Given the description of an element on the screen output the (x, y) to click on. 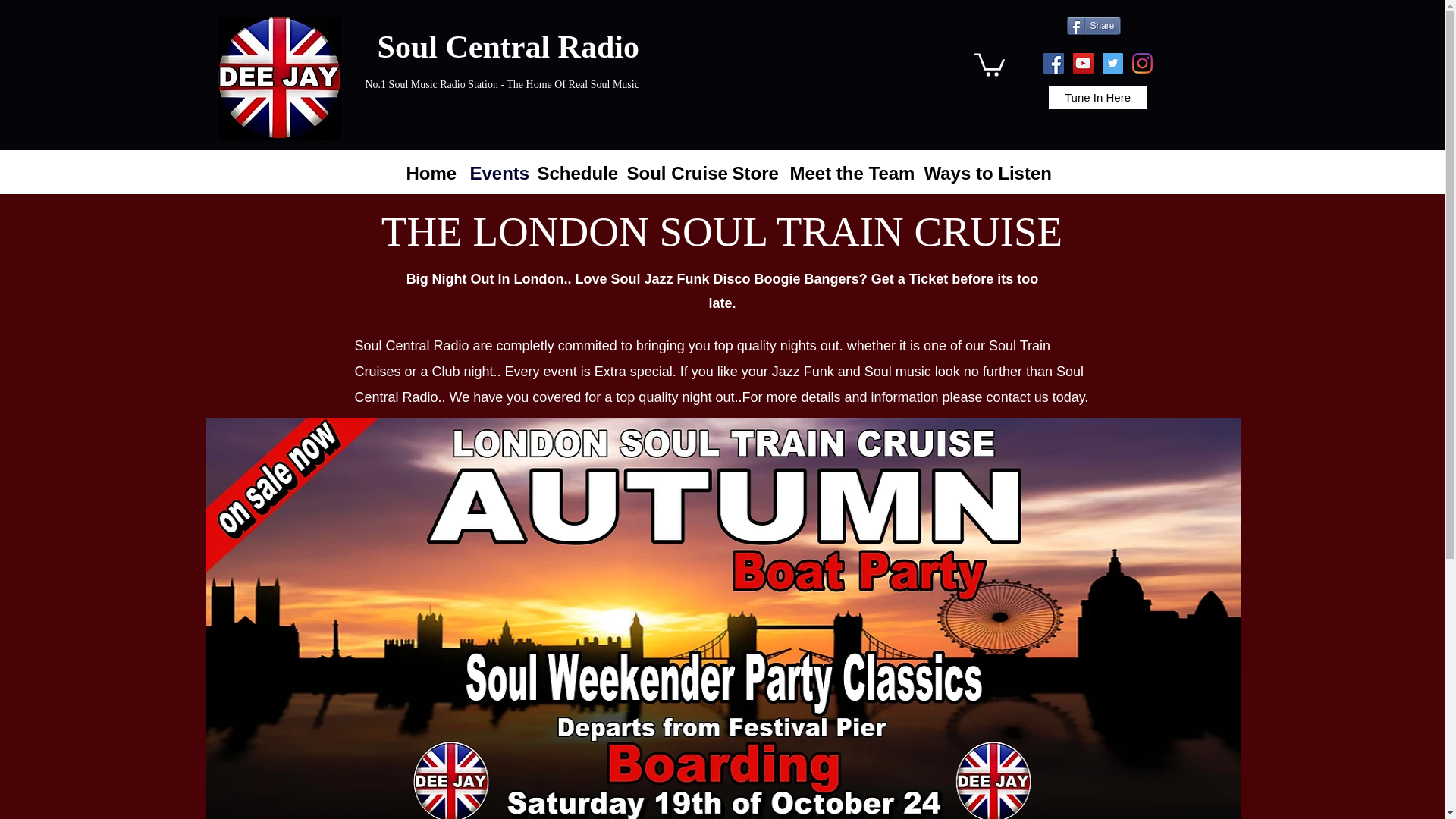
Share (1092, 25)
Soul Cruise (670, 171)
Soul Central Radio (508, 46)
Tune In Here (1097, 97)
Soul Central Radio  (278, 78)
Meet the Team (850, 171)
Share (1092, 25)
Events (496, 171)
No.1 Soul Music Radio Station -  (435, 84)
Store (754, 171)
Ways to Listen (980, 171)
Facebook Like (394, 116)
Home (430, 171)
